Given the description of an element on the screen output the (x, y) to click on. 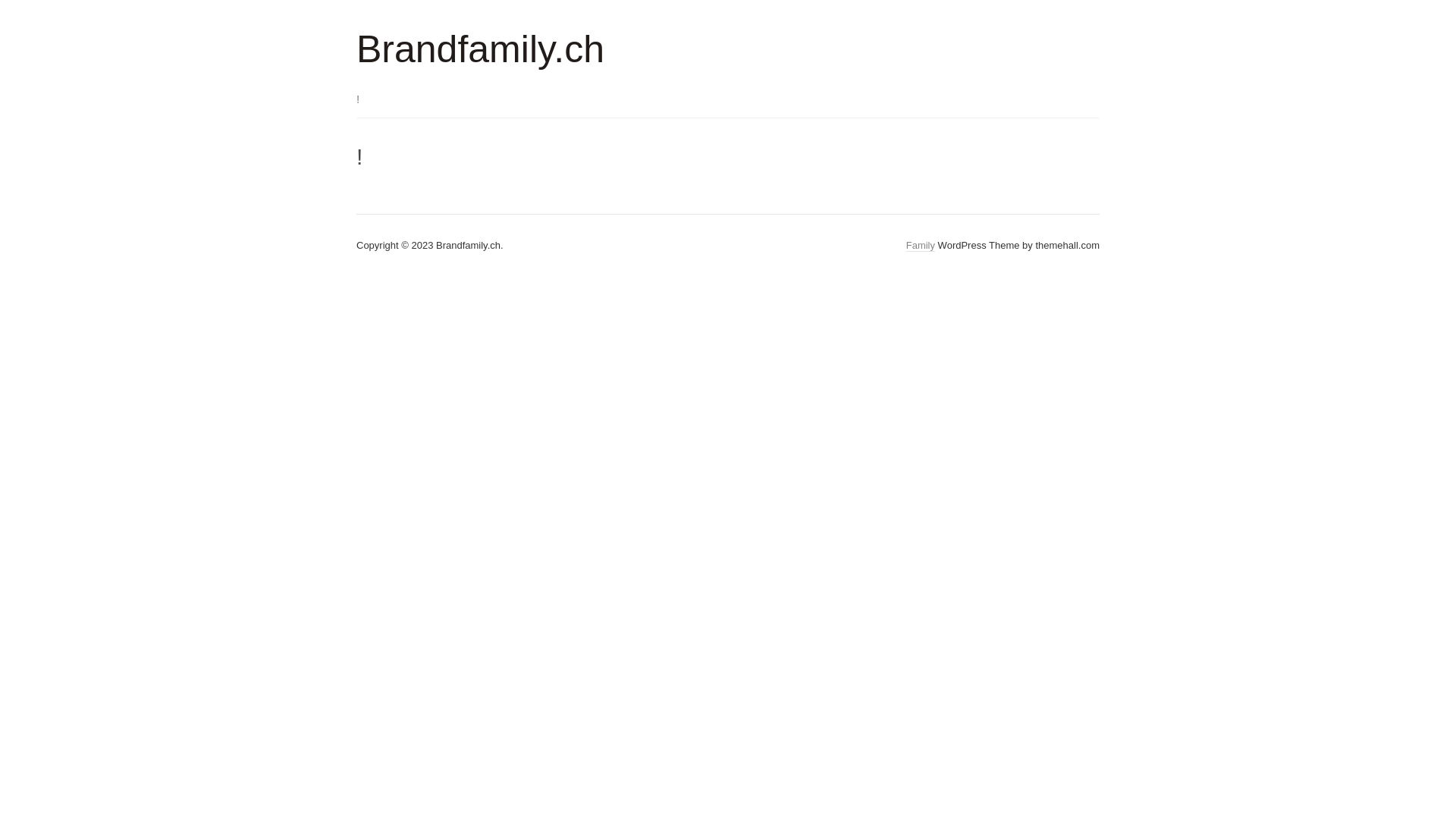
Brandfamily.ch Element type: text (480, 49)
Family Element type: text (920, 245)
! Element type: text (365, 99)
